Given the description of an element on the screen output the (x, y) to click on. 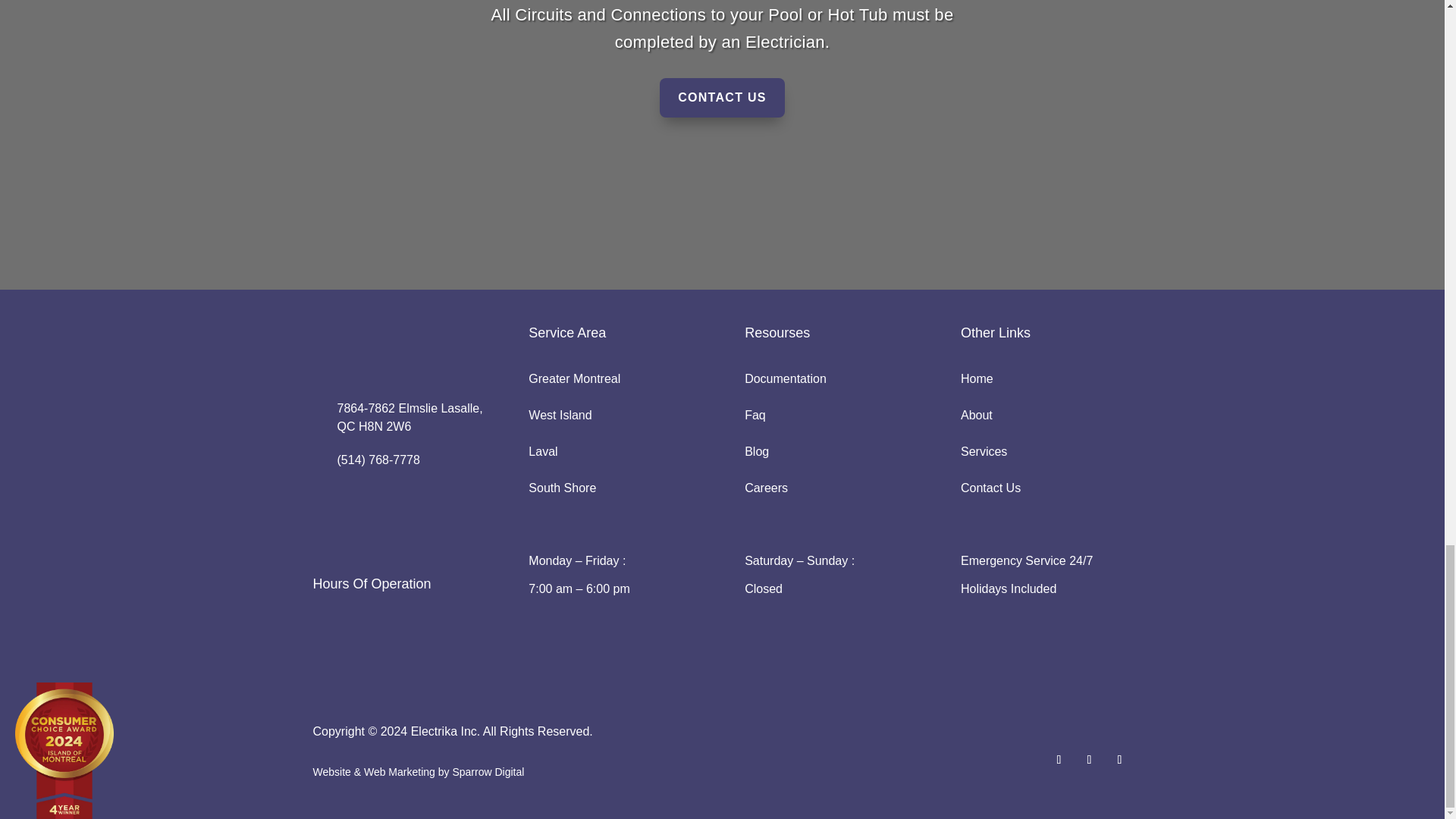
fit-product-RGB (388, 665)
Follow on Facebook (1058, 759)
Follow on LinkedIn (1118, 759)
Follow on Youtube (1088, 759)
